Given the description of an element on the screen output the (x, y) to click on. 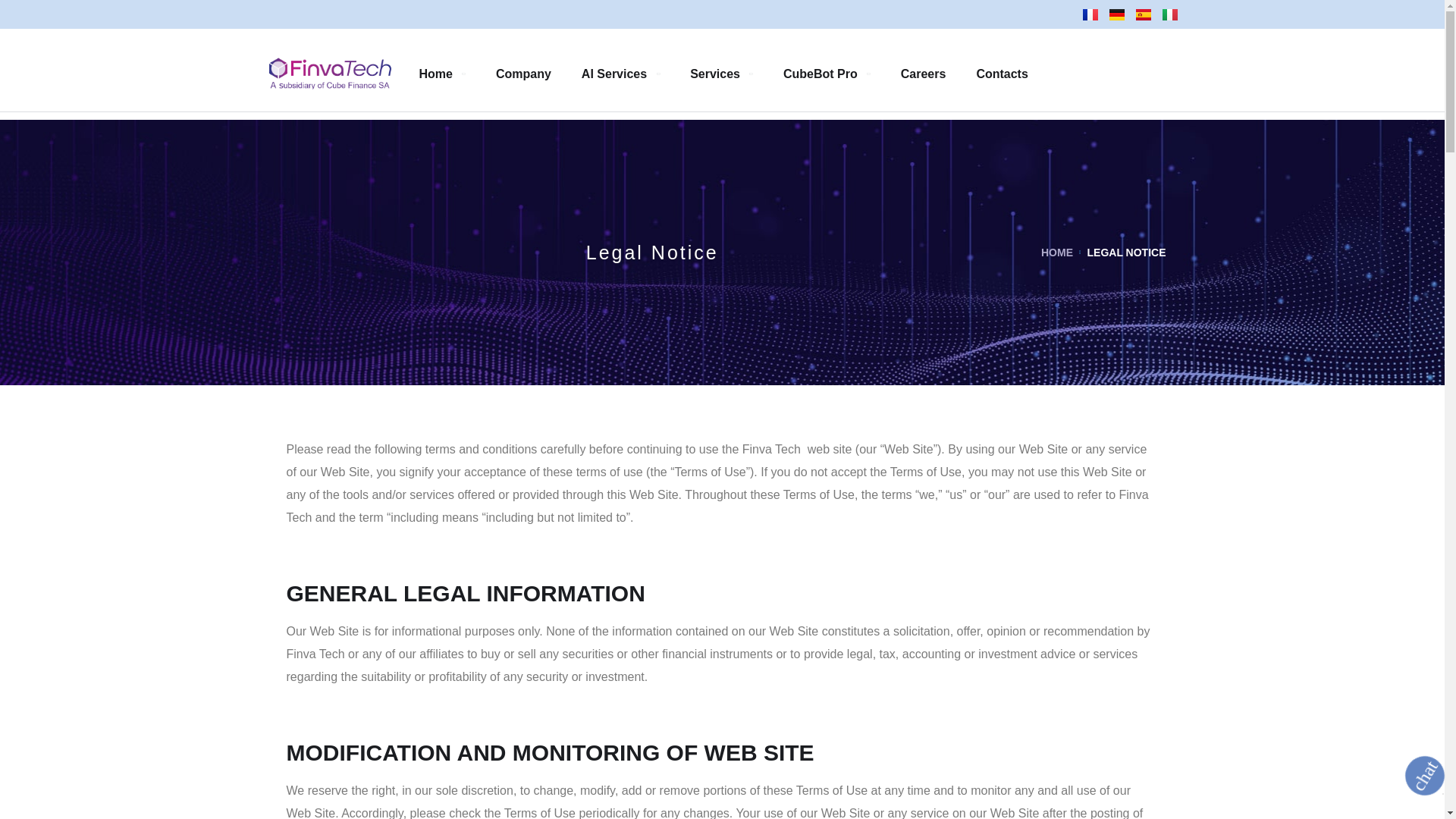
AI Services (619, 73)
CubeBot Pro (826, 73)
